Given the description of an element on the screen output the (x, y) to click on. 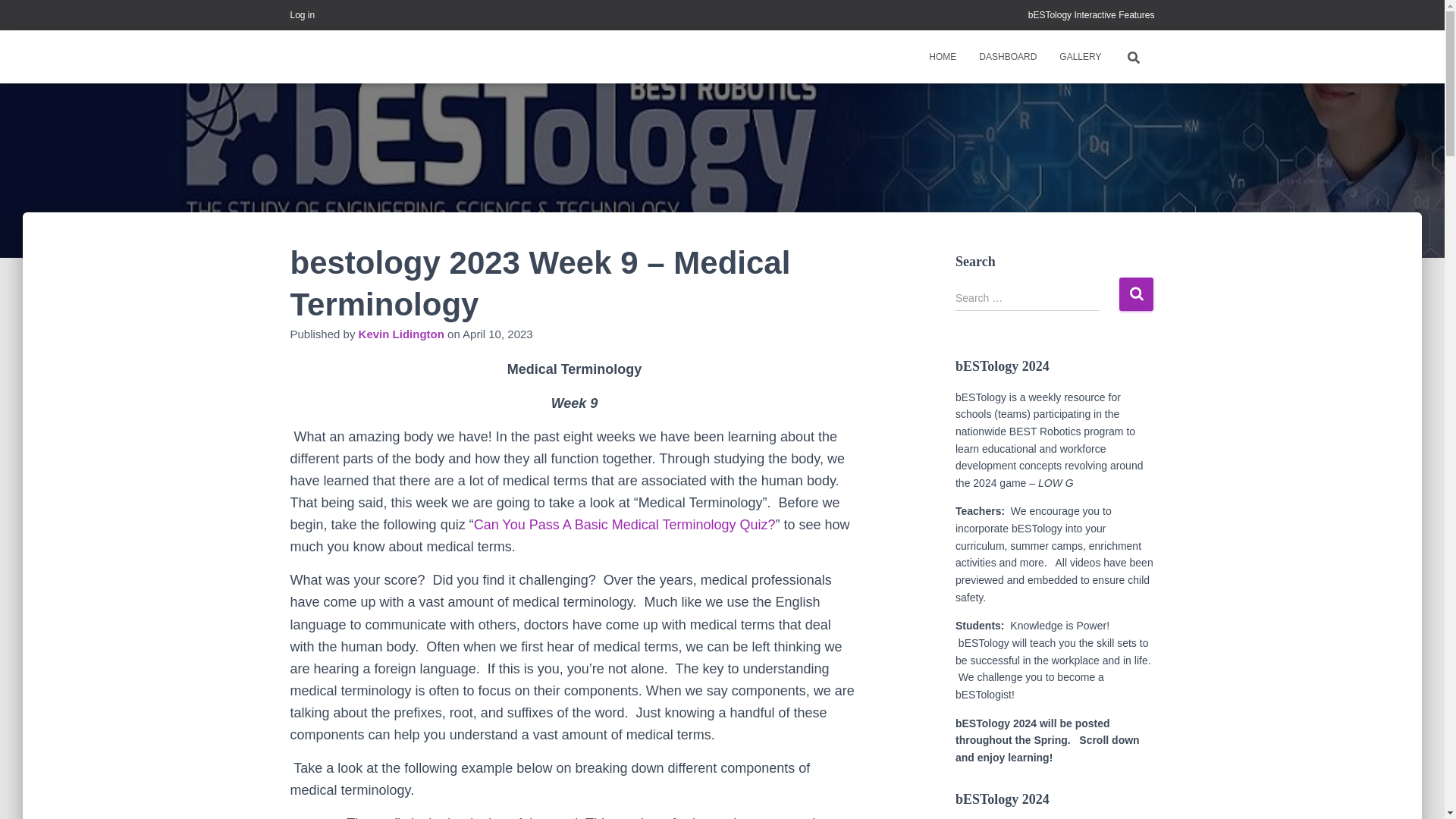
Search (3, 16)
HOME (942, 56)
Dashboard (1008, 56)
Log in (301, 14)
bESTology Interactive Features (1090, 15)
bESTology Interactive Features (1090, 15)
GALLERY (1080, 56)
Can You Pass A Basic Medical Terminology Quiz? (625, 524)
Kevin Lidington (401, 333)
Gallery (1080, 56)
DASHBOARD (1008, 56)
Search (1136, 293)
Search (1136, 293)
Home (942, 56)
